Given the description of an element on the screen output the (x, y) to click on. 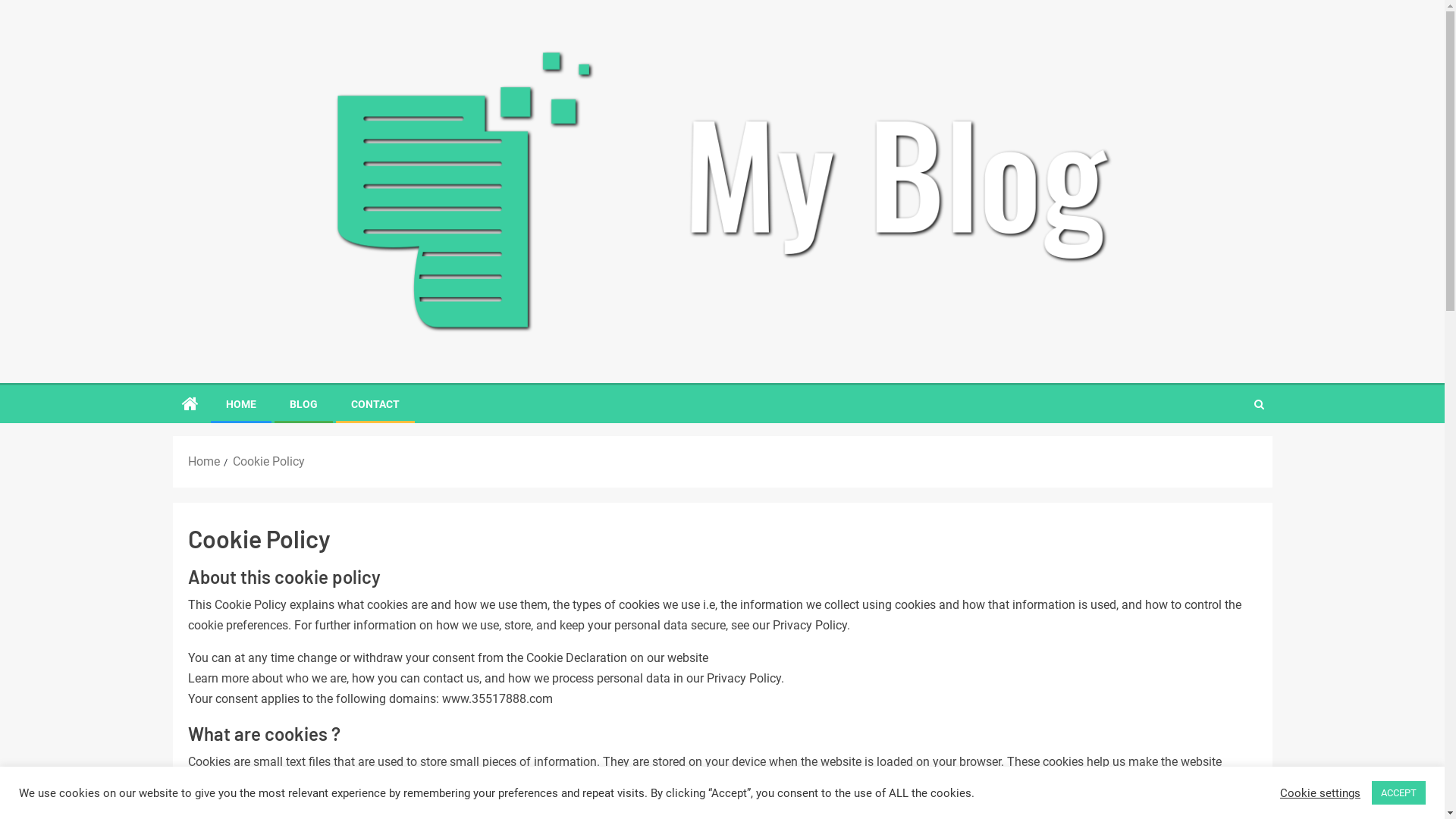
Cookie Policy Element type: text (268, 461)
ACCEPT Element type: text (1398, 792)
Search Element type: hover (1258, 403)
Home Element type: text (203, 461)
CONTACT Element type: text (374, 404)
Cookie settings Element type: text (1320, 792)
Search Element type: text (1229, 450)
HOME Element type: text (240, 404)
BLOG Element type: text (303, 404)
